Given the description of an element on the screen output the (x, y) to click on. 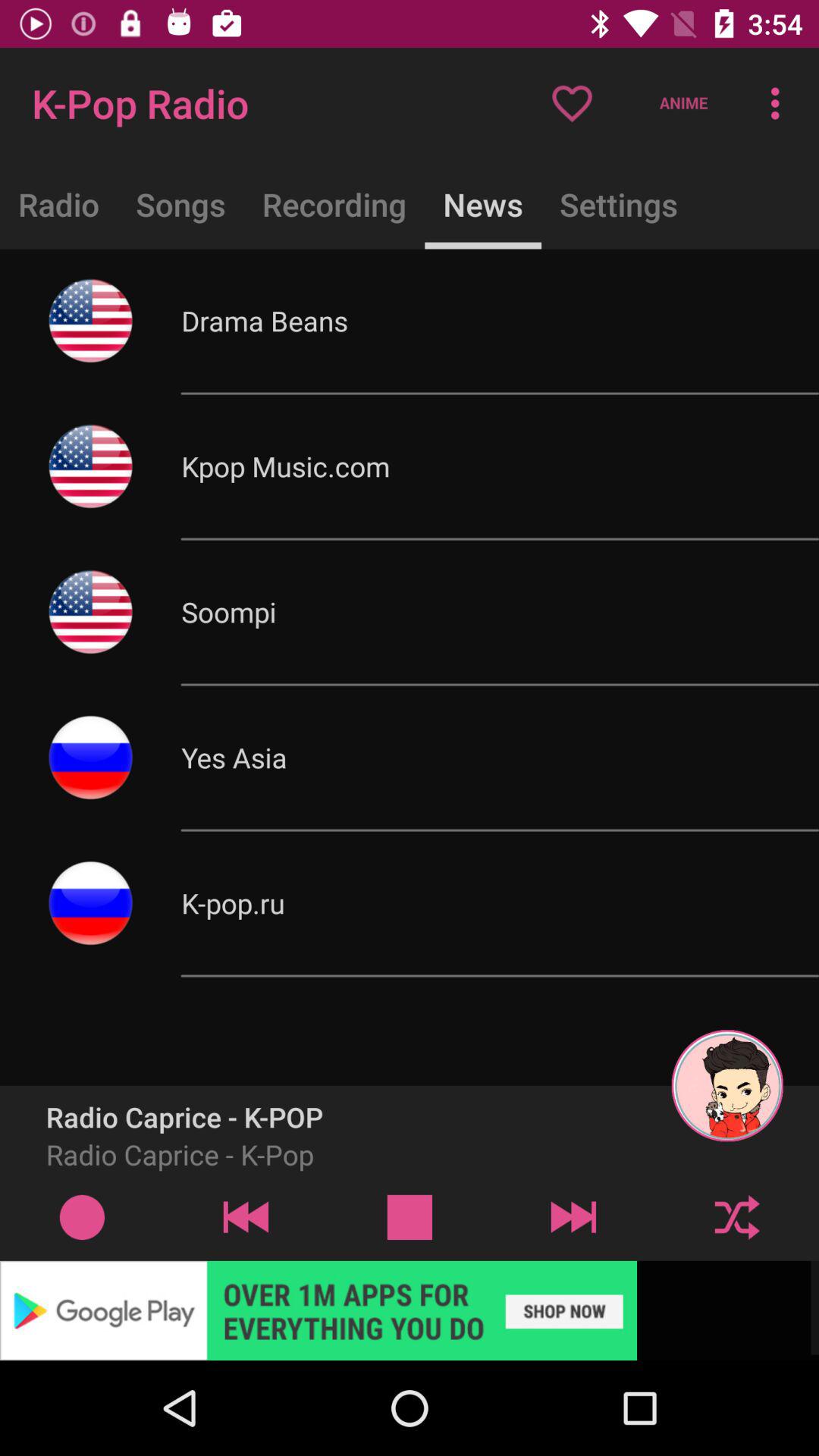
go to previous music (245, 1216)
